Given the description of an element on the screen output the (x, y) to click on. 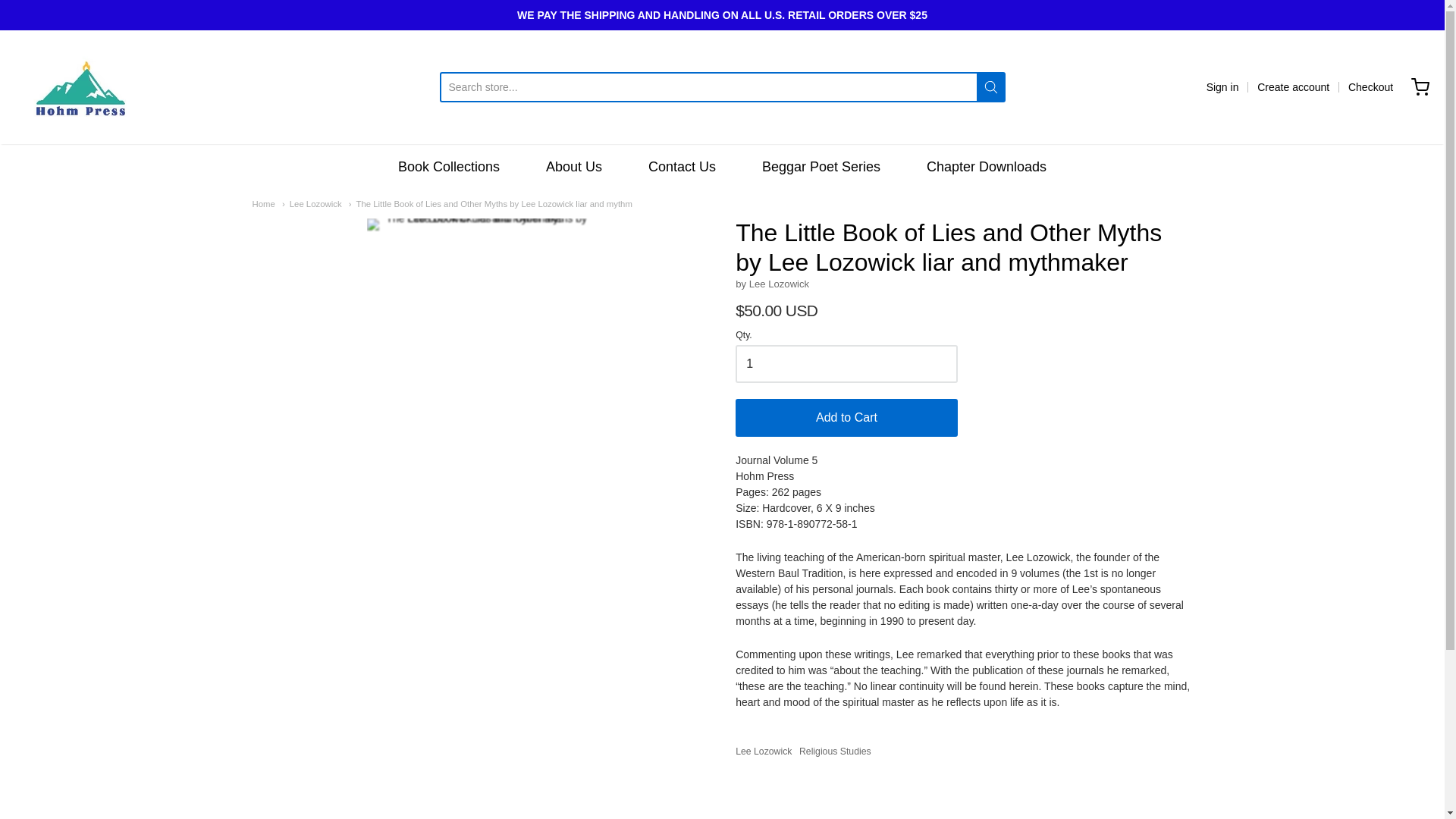
Add to Cart (846, 417)
Show products matching tag Religious Studies (834, 751)
Home (263, 203)
Lee Lozowick (312, 203)
Religious Studies (834, 751)
Create account (1293, 86)
Sign in (1223, 86)
About Us (574, 166)
by Lee Lozowick (772, 283)
Lee Lozowick (312, 203)
Home (263, 203)
Hohm Press (80, 86)
Lee Lozowick (763, 751)
Show products matching tag Lee Lozowick (763, 751)
Beggar Poet Series (820, 166)
